Given the description of an element on the screen output the (x, y) to click on. 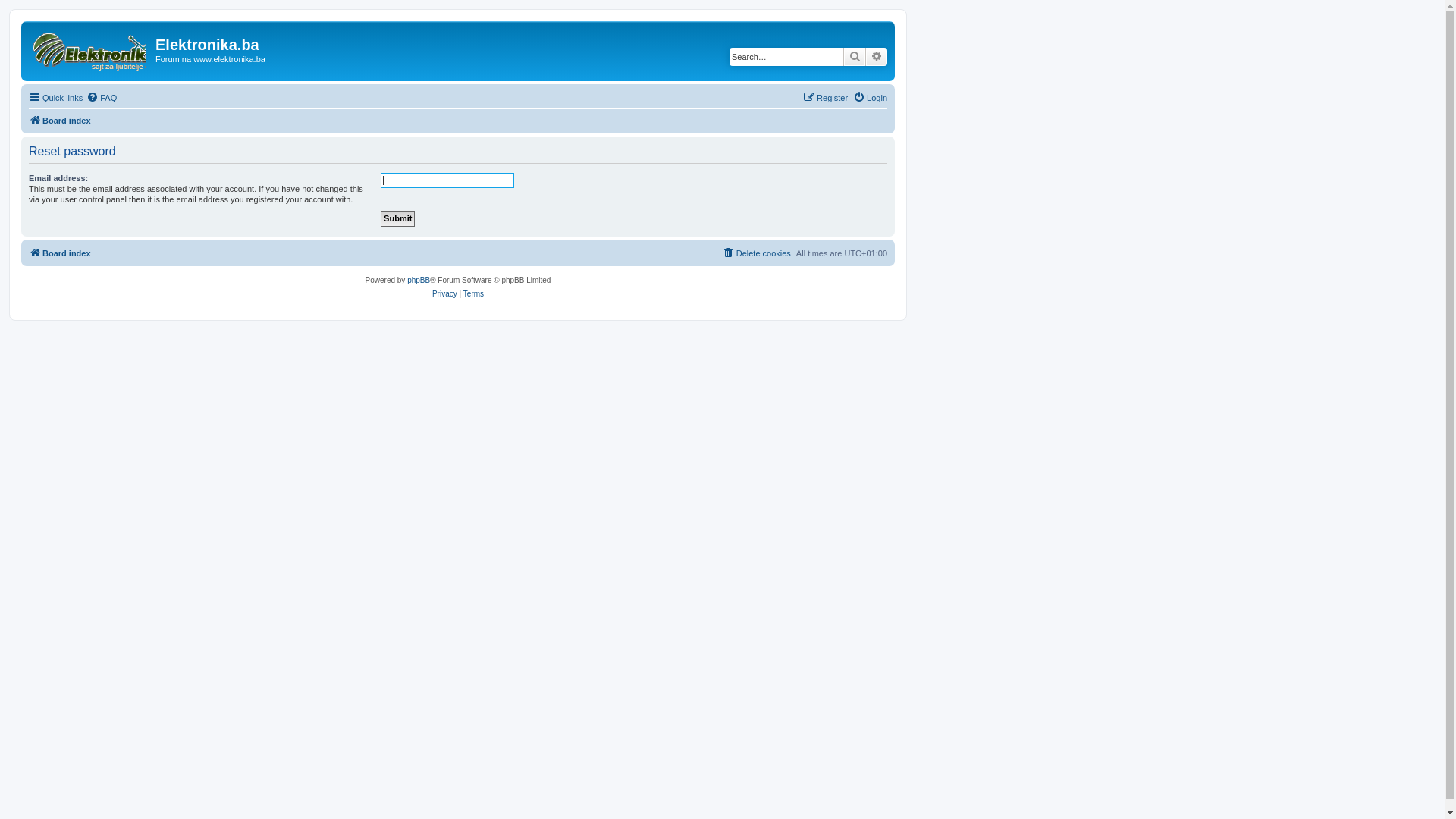
Search for keywords Element type: hover (786, 56)
FAQ Element type: text (101, 97)
Delete cookies Element type: text (756, 253)
Submit Element type: text (397, 218)
Login Element type: text (870, 97)
Board index Element type: hover (90, 49)
Terms Element type: text (473, 294)
phpBB Element type: text (418, 280)
Privacy Element type: text (444, 294)
Board index Element type: text (59, 120)
Board index Element type: text (59, 253)
Advanced search Element type: text (876, 56)
Register Element type: text (825, 97)
Quick links Element type: text (55, 97)
Search Element type: text (854, 56)
